Given the description of an element on the screen output the (x, y) to click on. 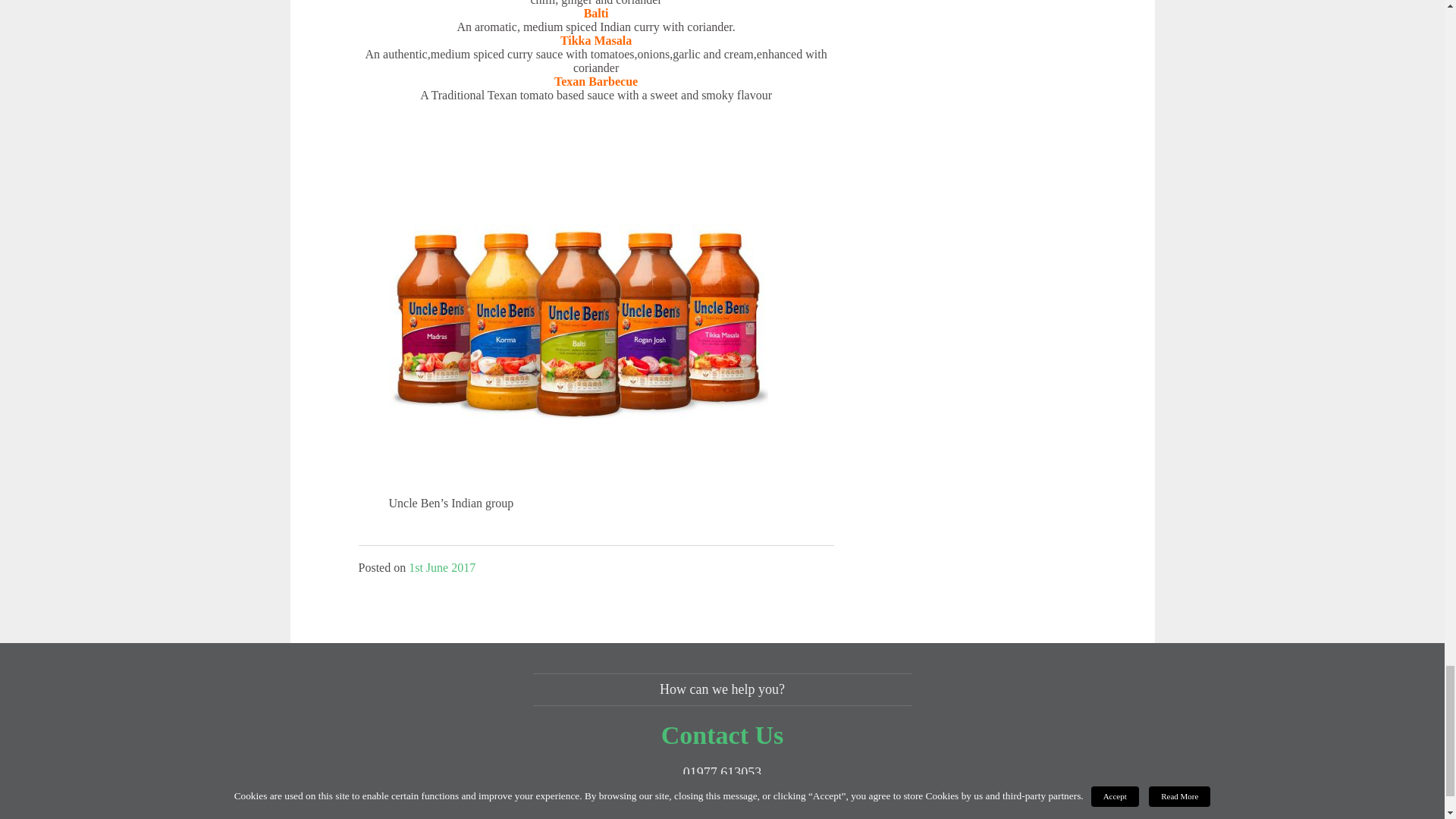
1st June 2017 (442, 567)
